Given the description of an element on the screen output the (x, y) to click on. 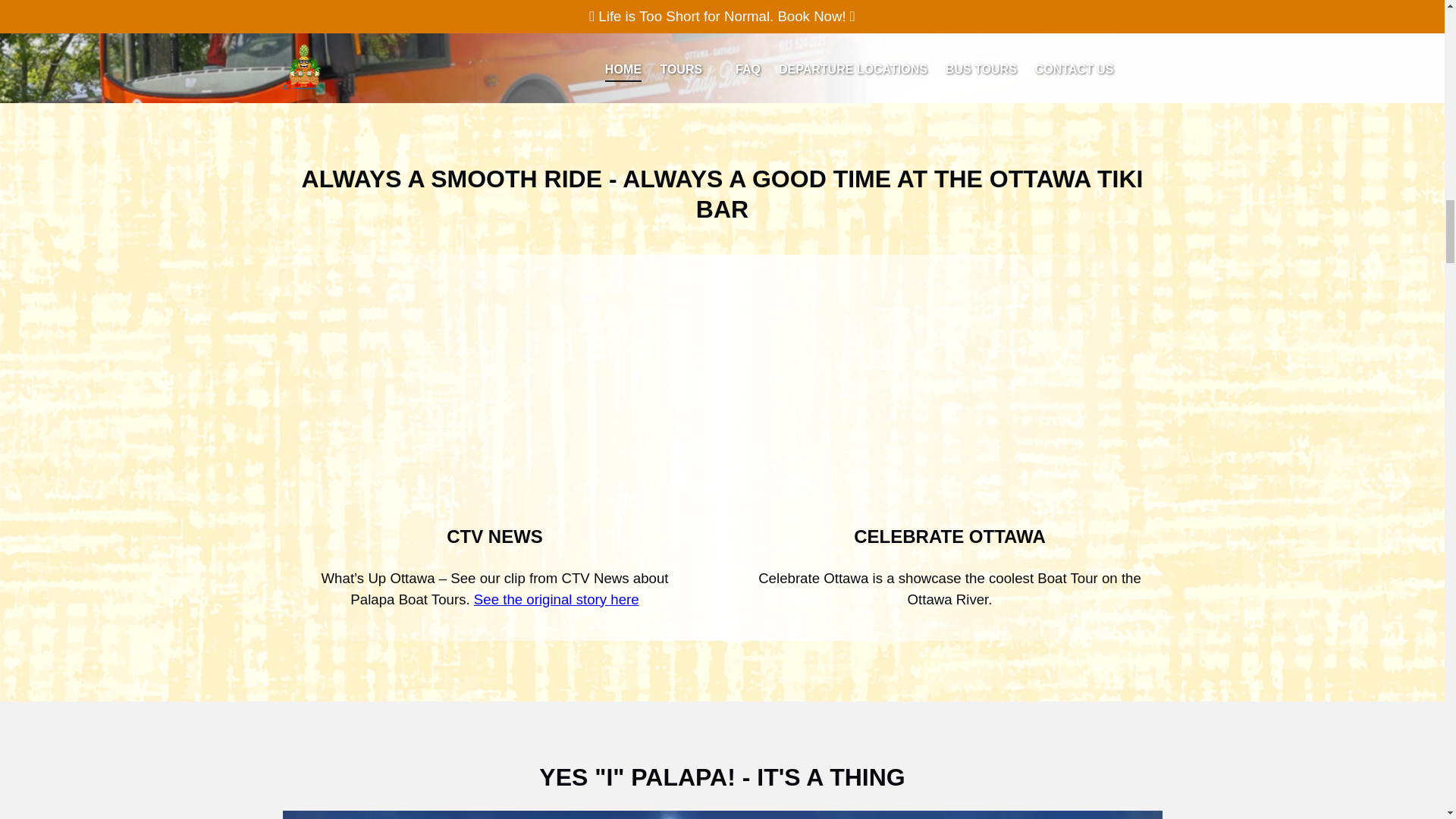
See the original story here (556, 599)
Palapa on CTV News (494, 395)
